Given the description of an element on the screen output the (x, y) to click on. 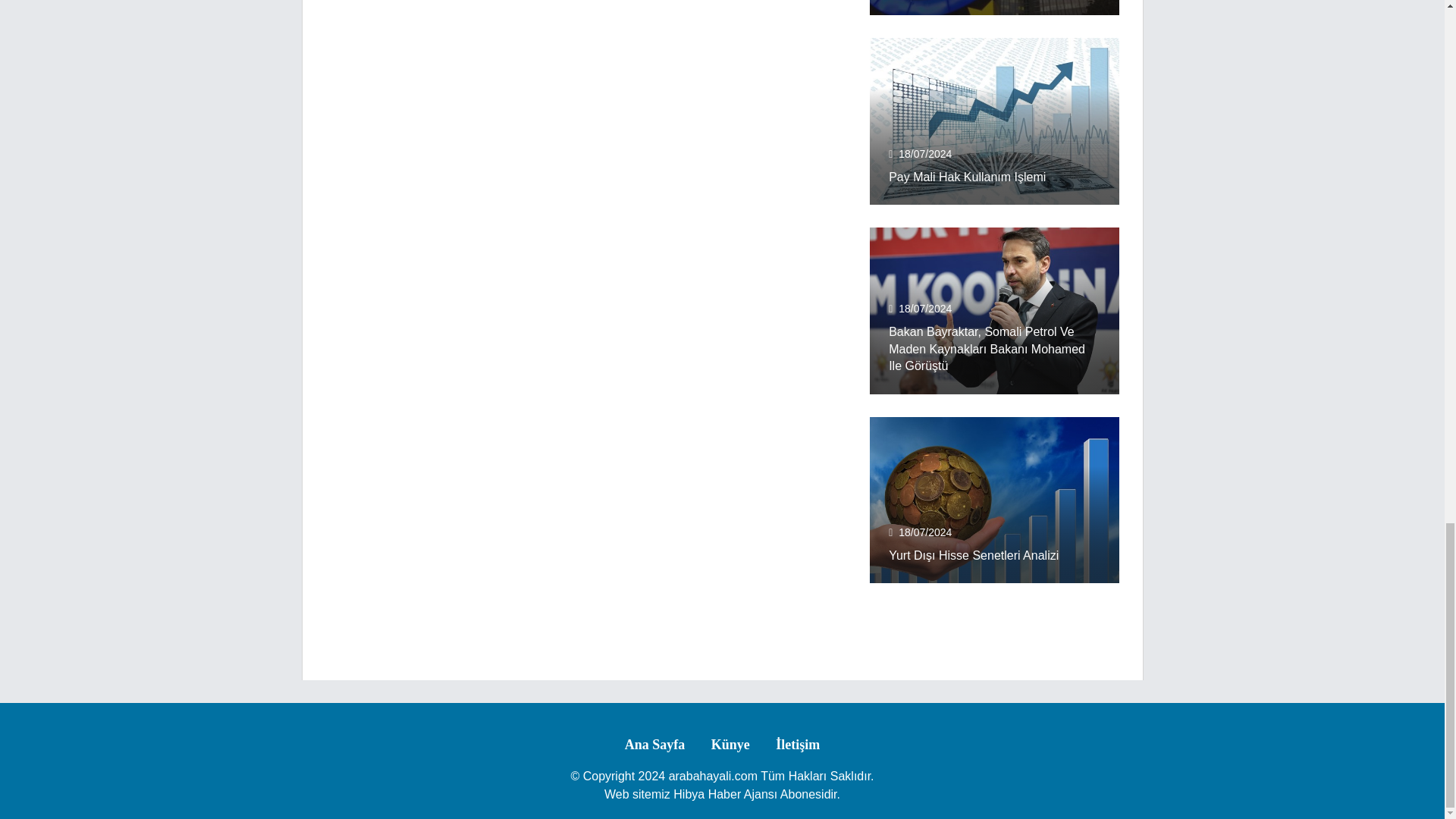
Ana Sayfa (654, 744)
